Given the description of an element on the screen output the (x, y) to click on. 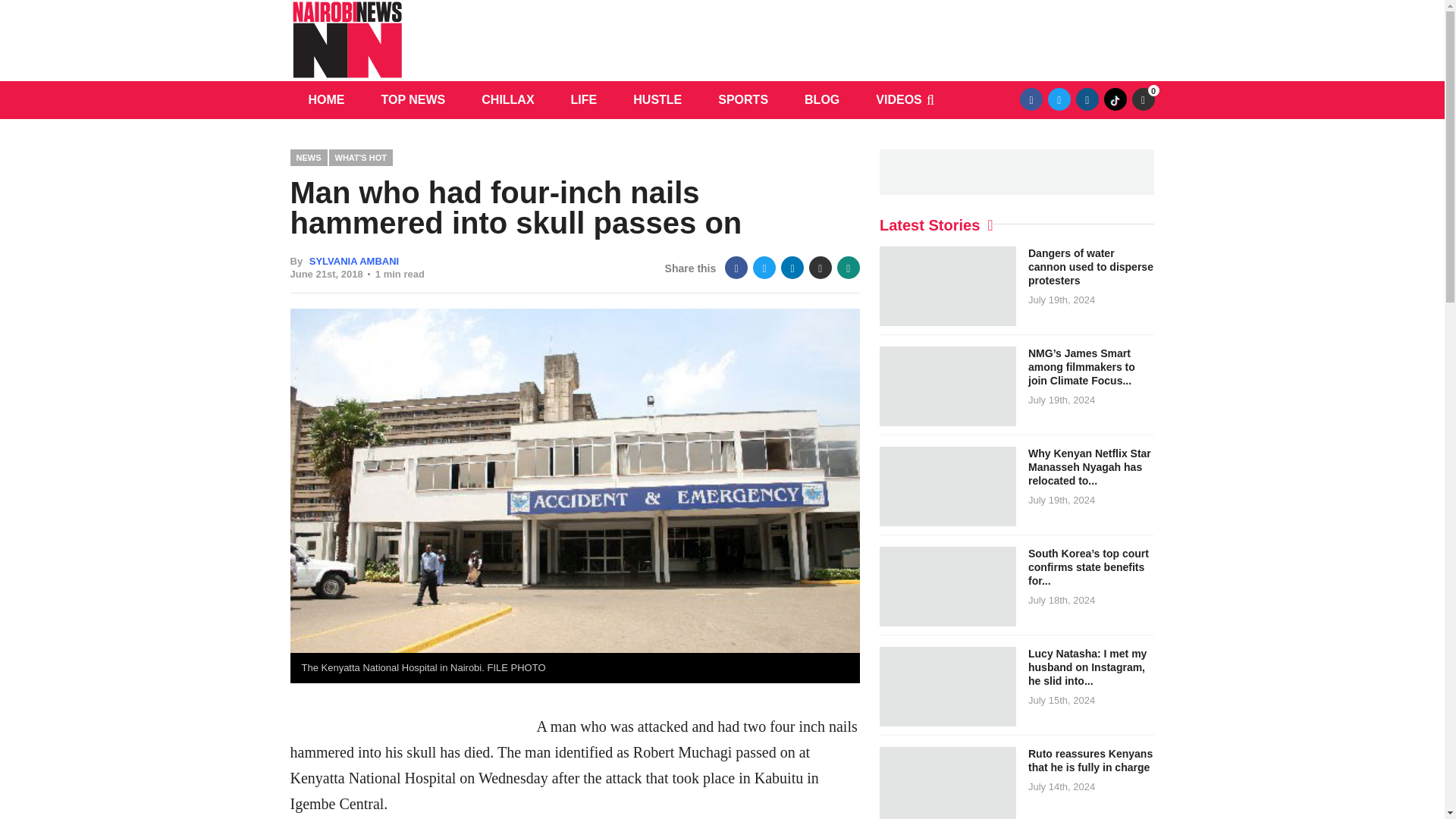
Twitter (1059, 98)
SPORTS (743, 99)
Email (820, 267)
0 (1142, 98)
CHILLAX (507, 99)
NEWS (307, 157)
WhatsApp (848, 267)
TOP NEWS (412, 99)
Updates made in the last 20 minutes (1142, 98)
LinkedIn (791, 267)
VIDEOS (898, 99)
Facebook (736, 267)
TikTok (1114, 98)
WHAT'S HOT (360, 157)
LIFE (584, 99)
